Given the description of an element on the screen output the (x, y) to click on. 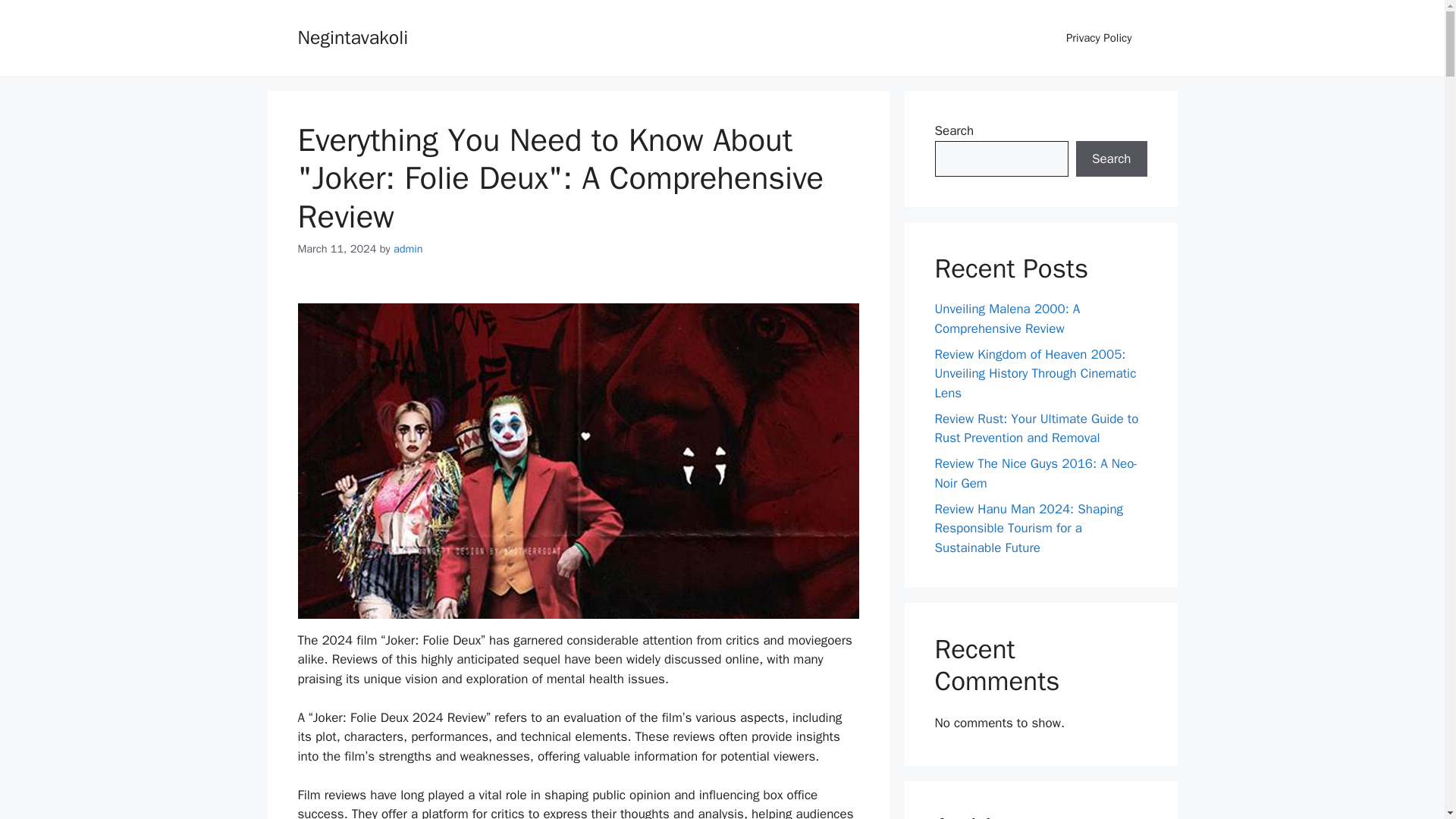
Search (1111, 158)
Unveiling Malena 2000: A Comprehensive Review (1007, 318)
View all posts by admin (408, 248)
Privacy Policy (1099, 37)
Review The Nice Guys 2016: A Neo-Noir Gem (1035, 473)
admin (408, 248)
Negintavakoli (352, 37)
